Given the description of an element on the screen output the (x, y) to click on. 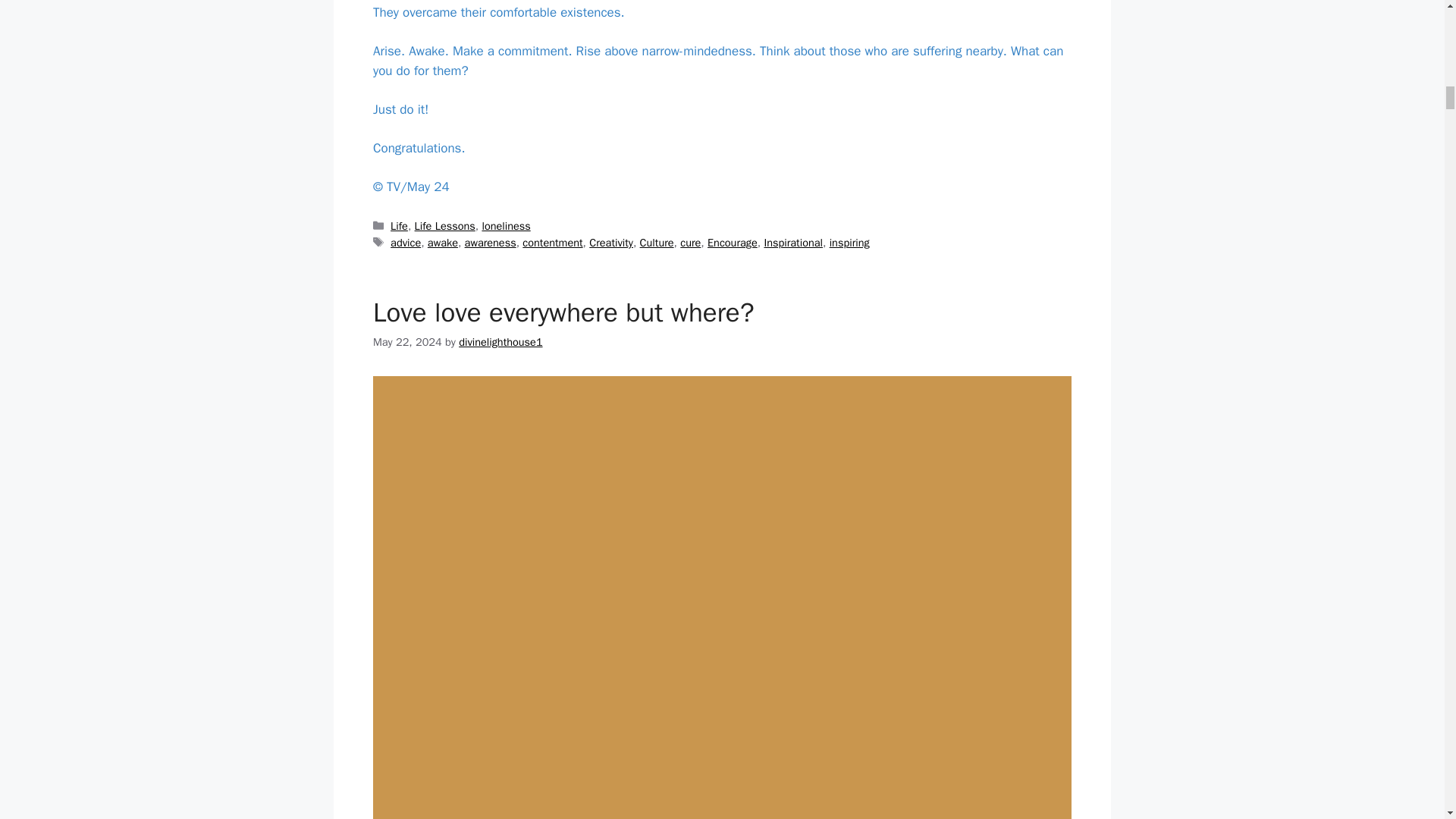
cure (689, 242)
inspiring (849, 242)
Creativity (611, 242)
Encourage (732, 242)
awareness (490, 242)
Inspirational (792, 242)
Culture (657, 242)
divinelighthouse1 (499, 341)
View all posts by divinelighthouse1 (499, 341)
awake (443, 242)
Life (398, 225)
loneliness (505, 225)
Love love everywhere but where? (563, 312)
advice (405, 242)
contentment (552, 242)
